Given the description of an element on the screen output the (x, y) to click on. 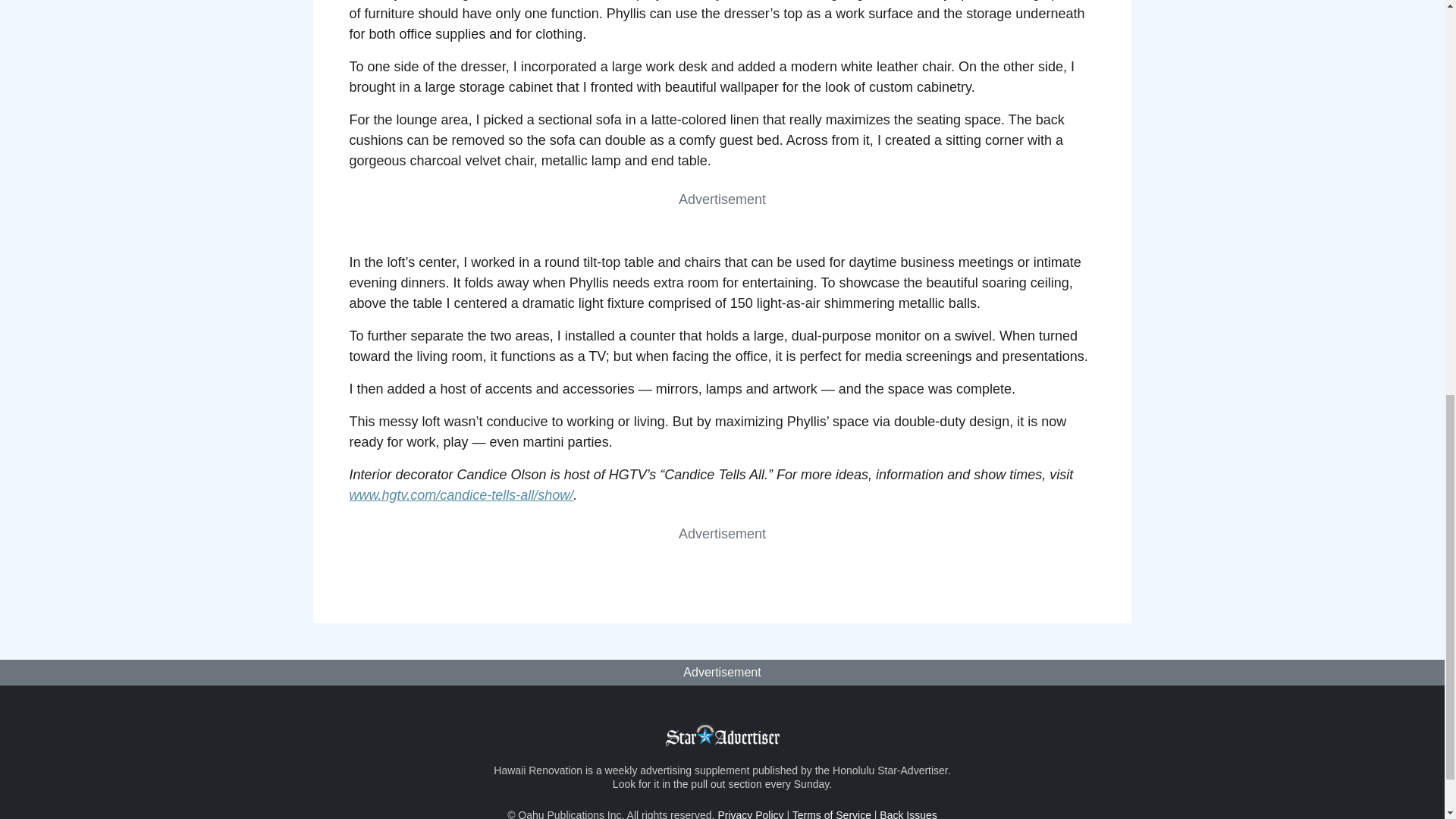
Back Issues (907, 814)
Privacy Policy (750, 814)
Terms of Service (831, 814)
